Given the description of an element on the screen output the (x, y) to click on. 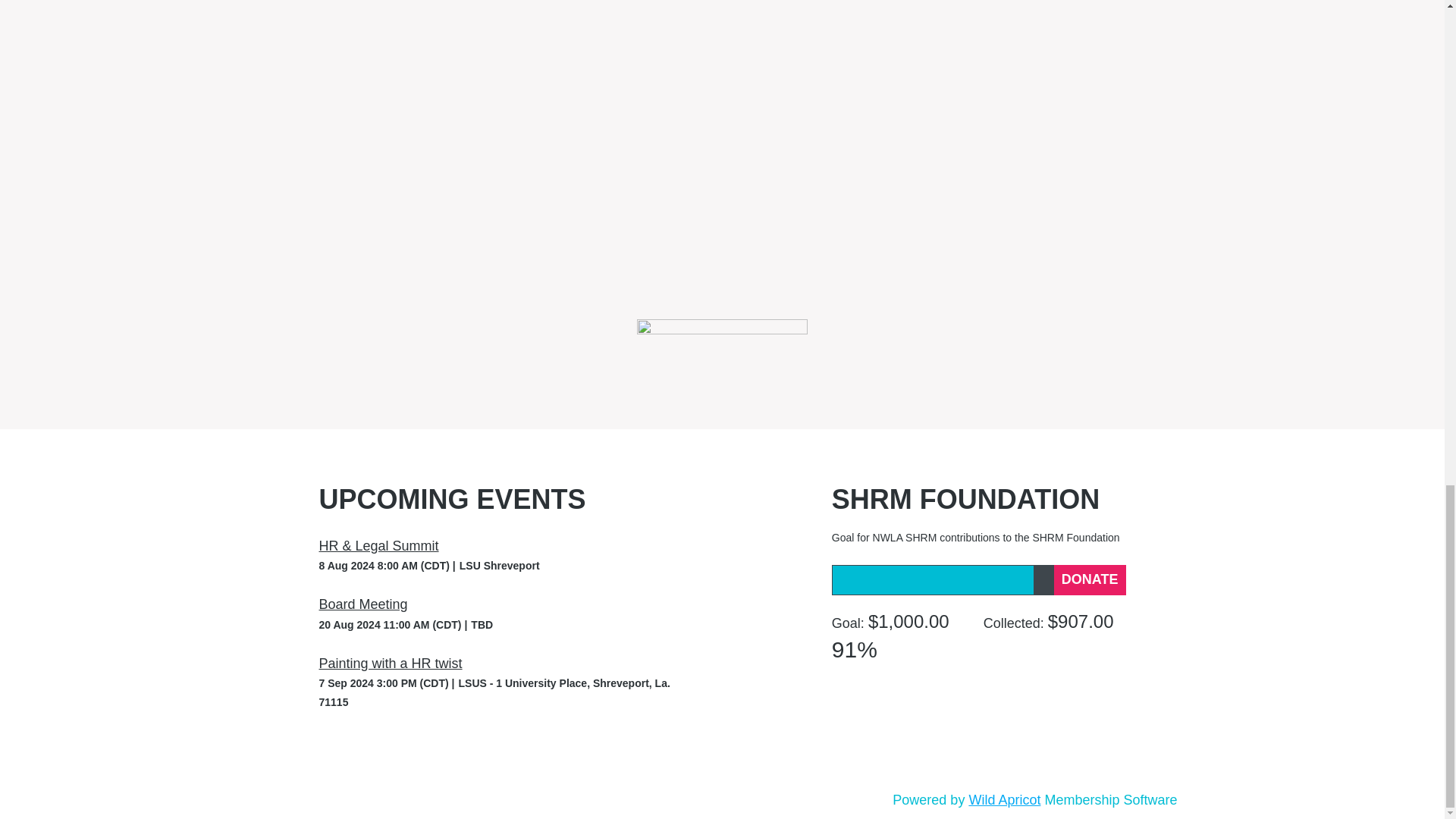
Donate (1089, 580)
